Given the description of an element on the screen output the (x, y) to click on. 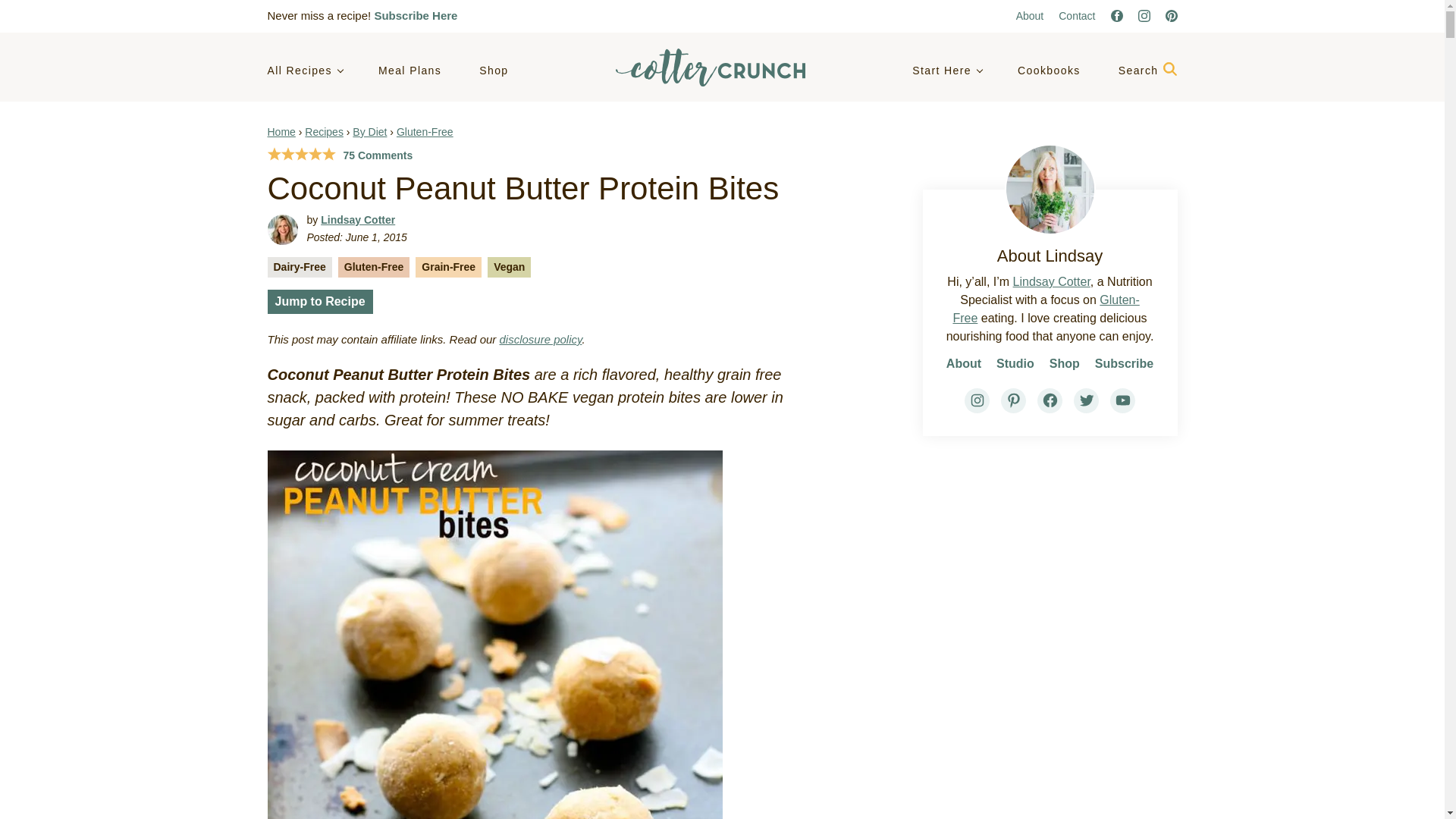
Subscribe Here (415, 15)
Contact (1076, 15)
About (1029, 15)
All Recipes (303, 70)
